Given the description of an element on the screen output the (x, y) to click on. 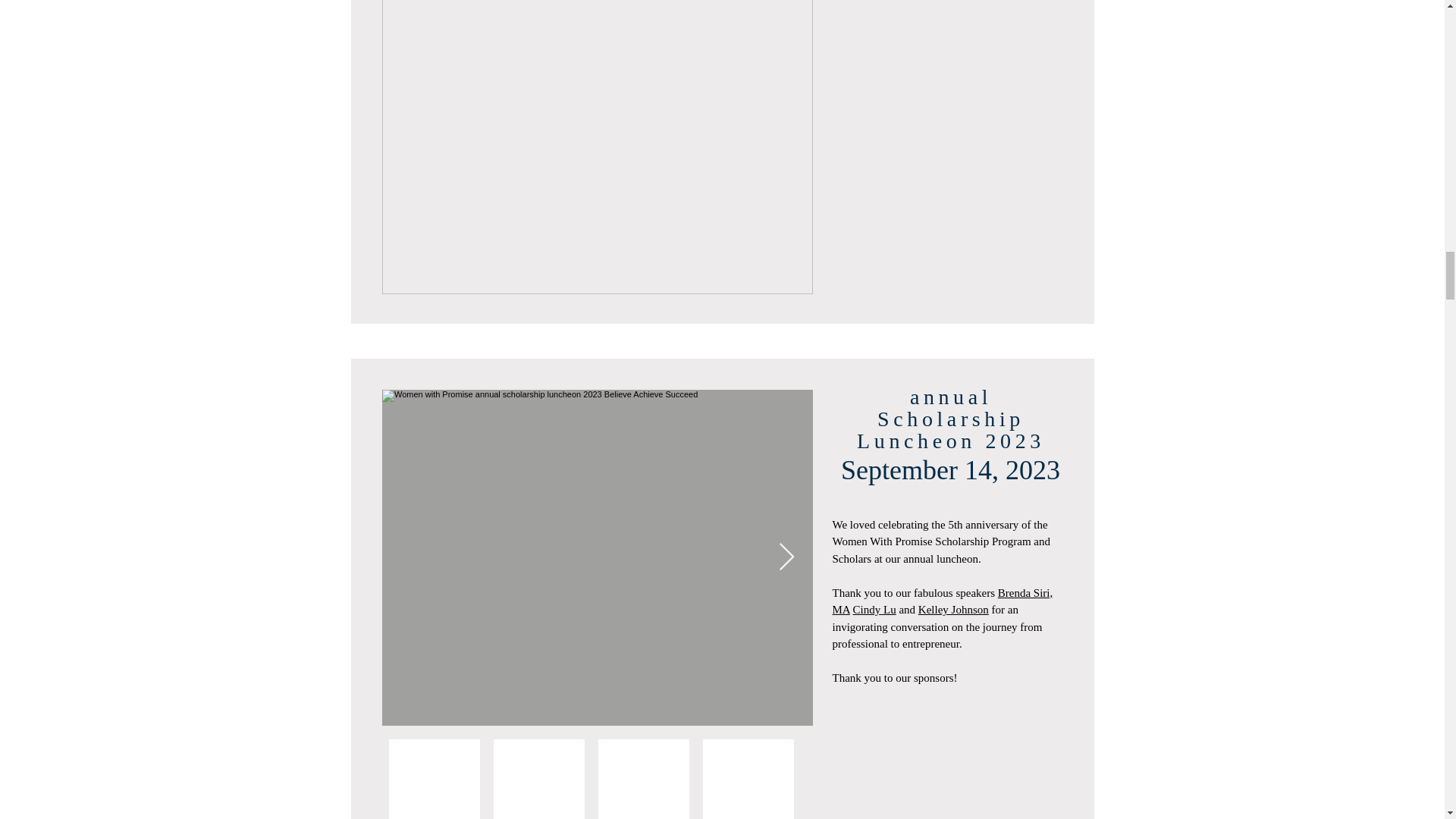
Brenda Siri, MA (942, 601)
Cindy Lu (874, 609)
Kelley Johnson (953, 609)
